Given the description of an element on the screen output the (x, y) to click on. 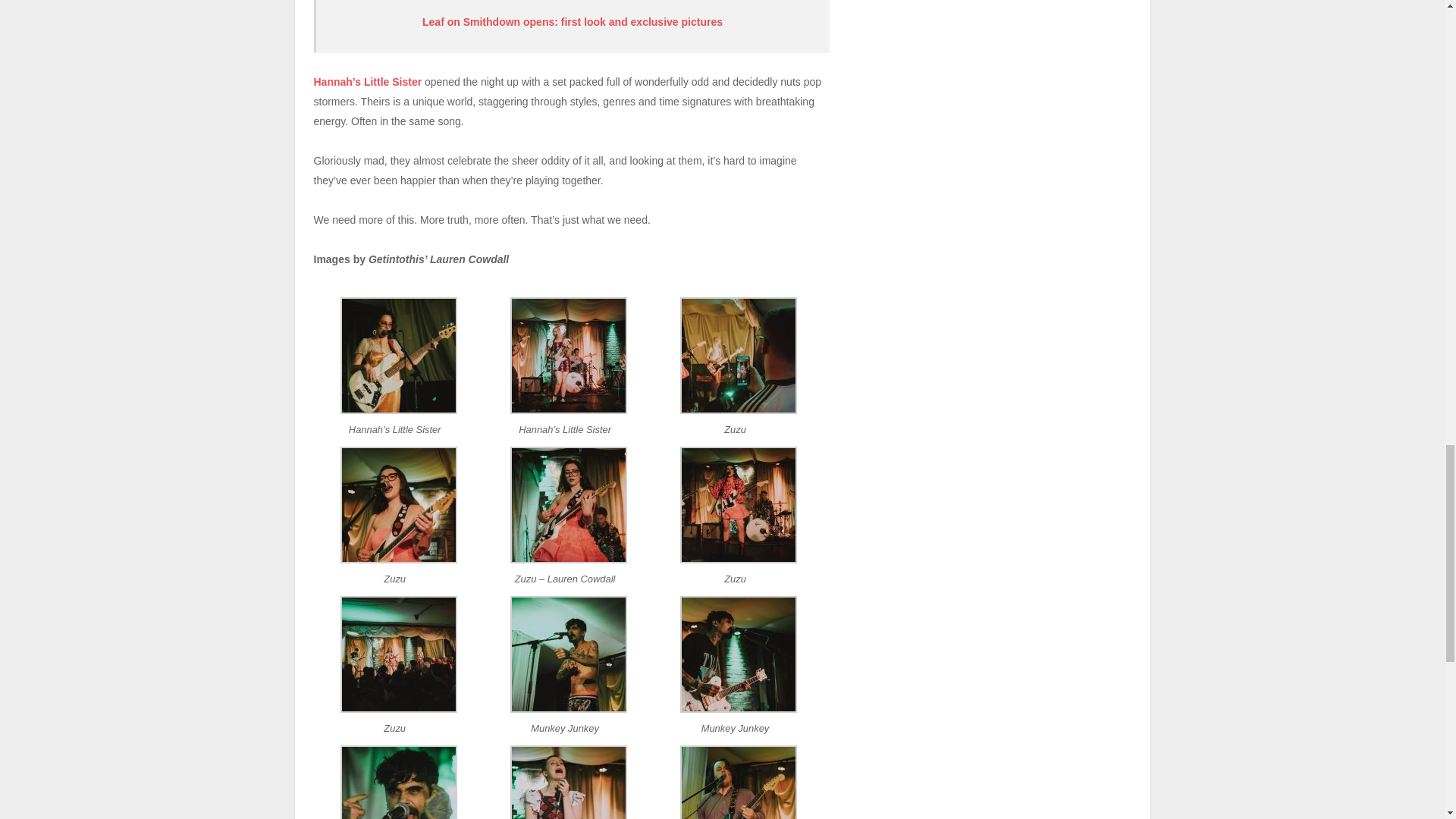
Munkey Junkey (737, 708)
Zuzu (737, 410)
Zuzu - Lauren Cowdall (569, 559)
Hannah's Little Sister (569, 410)
Leaf on Smithdown opens: first look and exclusive pictures (572, 21)
Munkey Junkey (569, 708)
Zuzu (737, 559)
Zuzu (398, 559)
Zuzu (398, 708)
Hannah's Little Sister (398, 410)
